Given the description of an element on the screen output the (x, y) to click on. 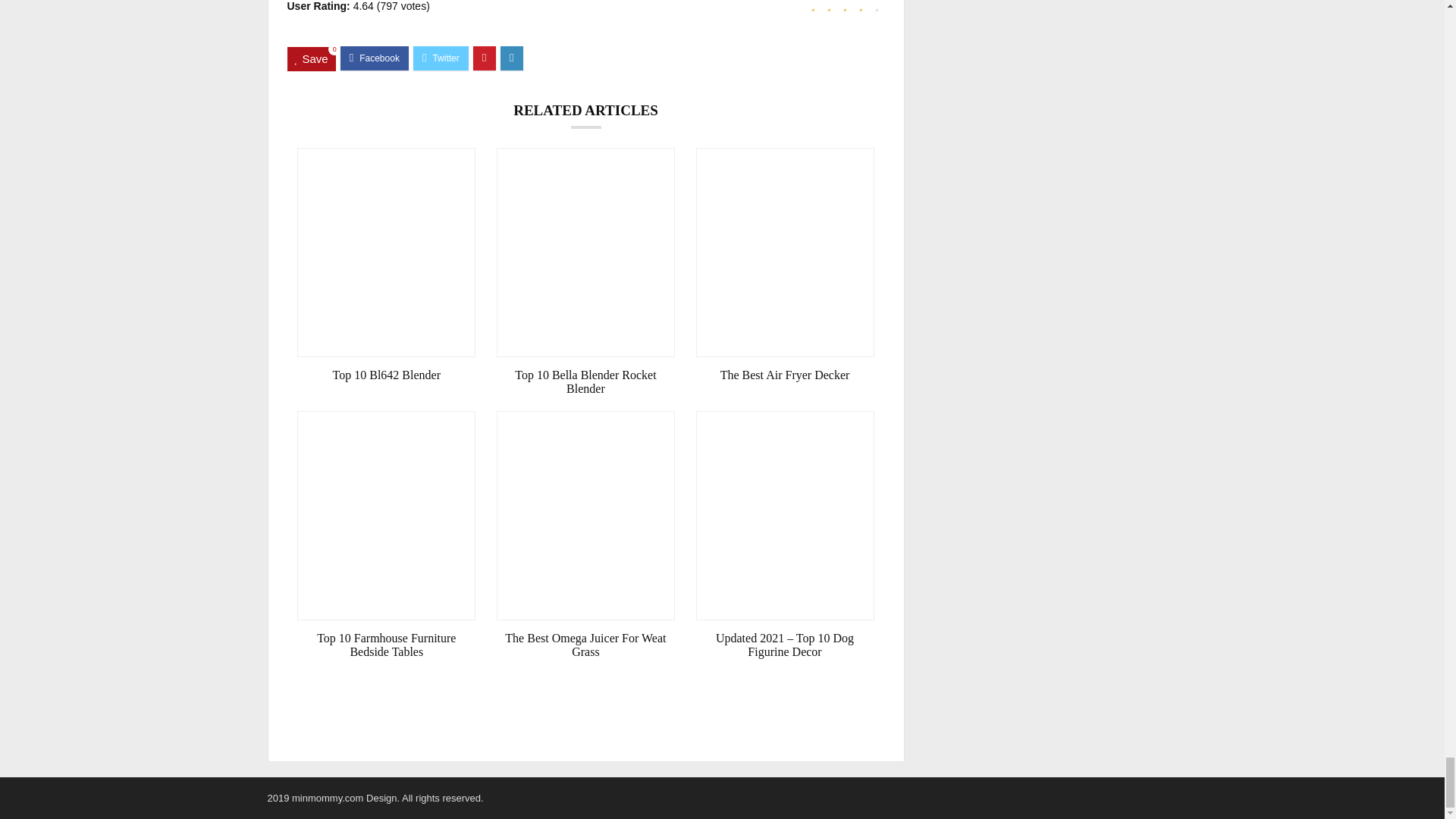
Top 10 Bl642 Blender (386, 375)
Top 10 Bella Blender Rocket Blender (585, 381)
Top 10 Farmhouse Furniture Bedside Tables (386, 645)
The Best Air Fryer Decker (785, 375)
The Best Omega Juicer  For Weat Grass (585, 645)
